Given the description of an element on the screen output the (x, y) to click on. 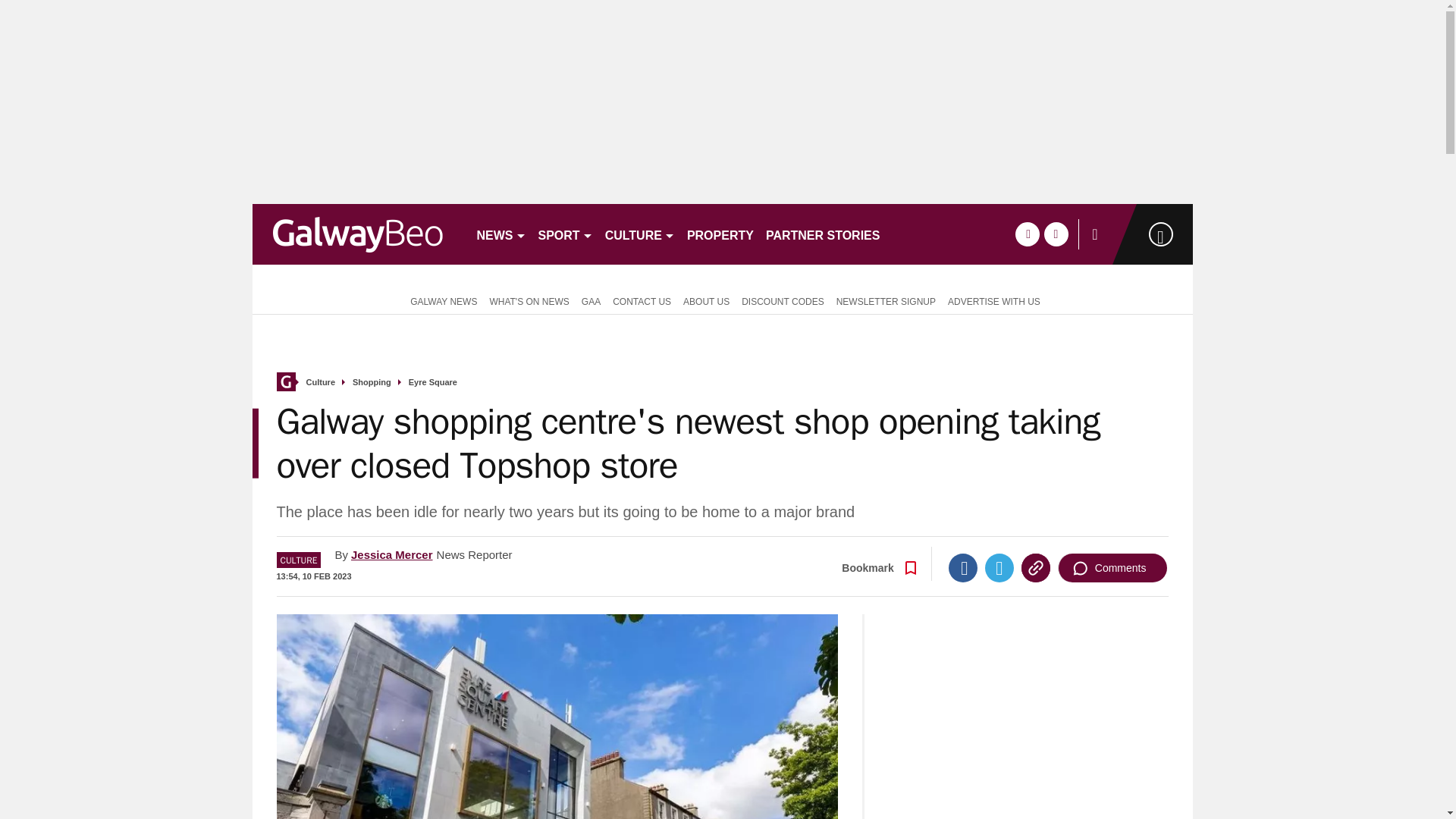
CONTACT US (642, 300)
facebook (1026, 233)
Twitter (999, 567)
WHAT'S ON NEWS (529, 300)
CULTURE (639, 233)
DISCOUNT CODES (782, 300)
Eyre Square (433, 382)
ADVERTISE WITH US (994, 300)
Facebook (962, 567)
GAA (591, 300)
